Given the description of an element on the screen output the (x, y) to click on. 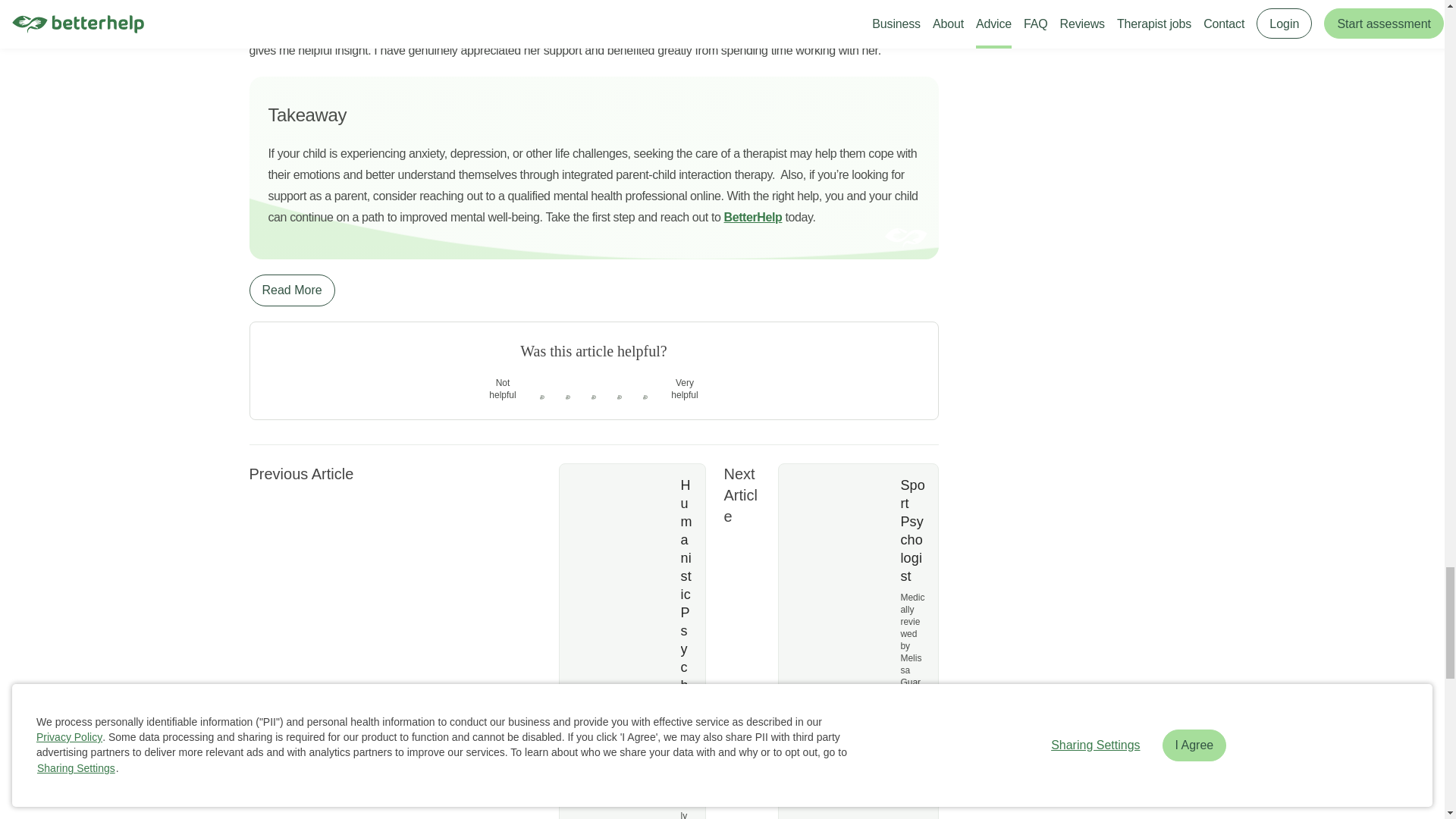
0 (566, 406)
BetterHelp (753, 216)
Read More (291, 290)
